Given the description of an element on the screen output the (x, y) to click on. 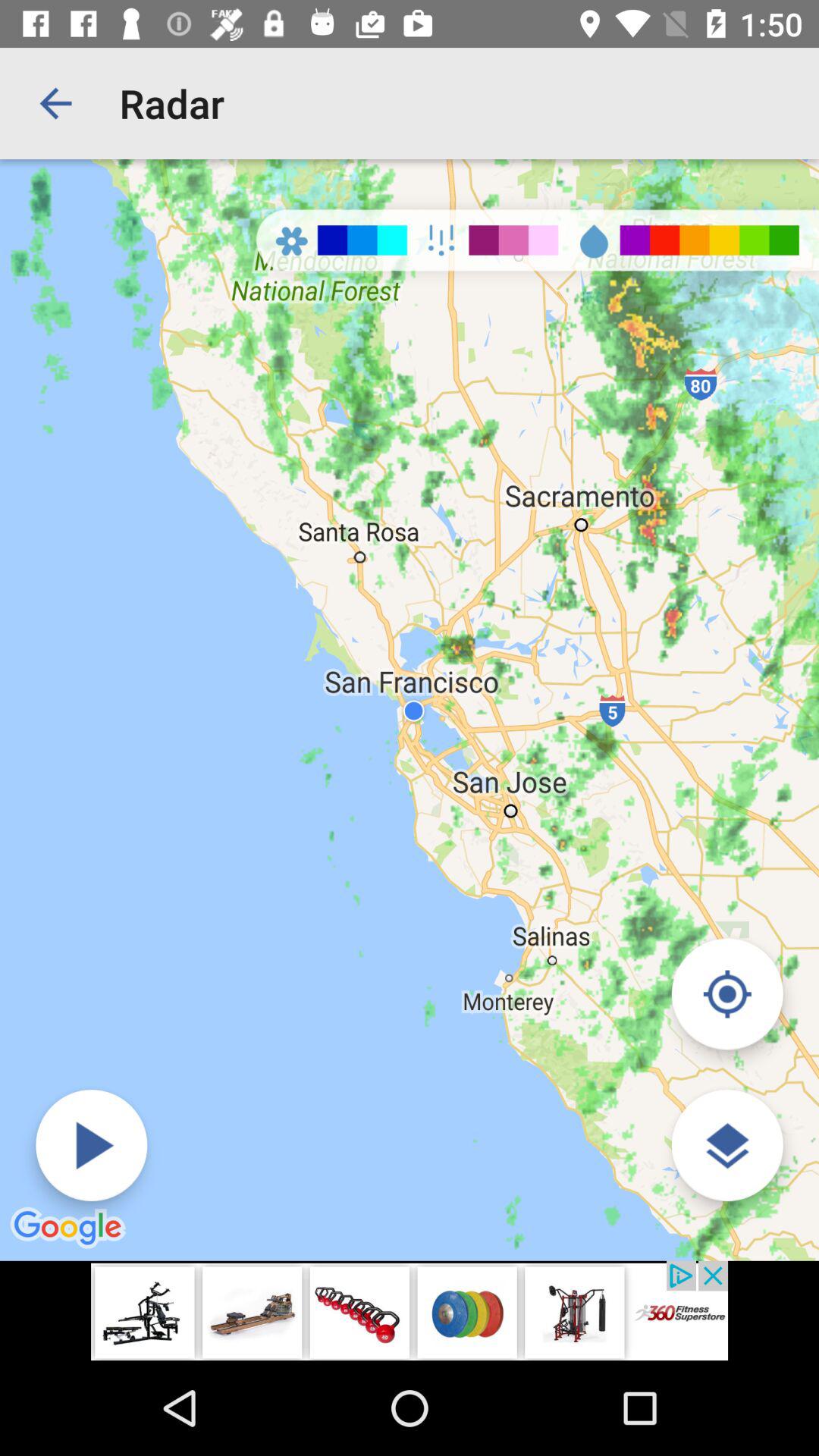
map options (727, 1145)
